Given the description of an element on the screen output the (x, y) to click on. 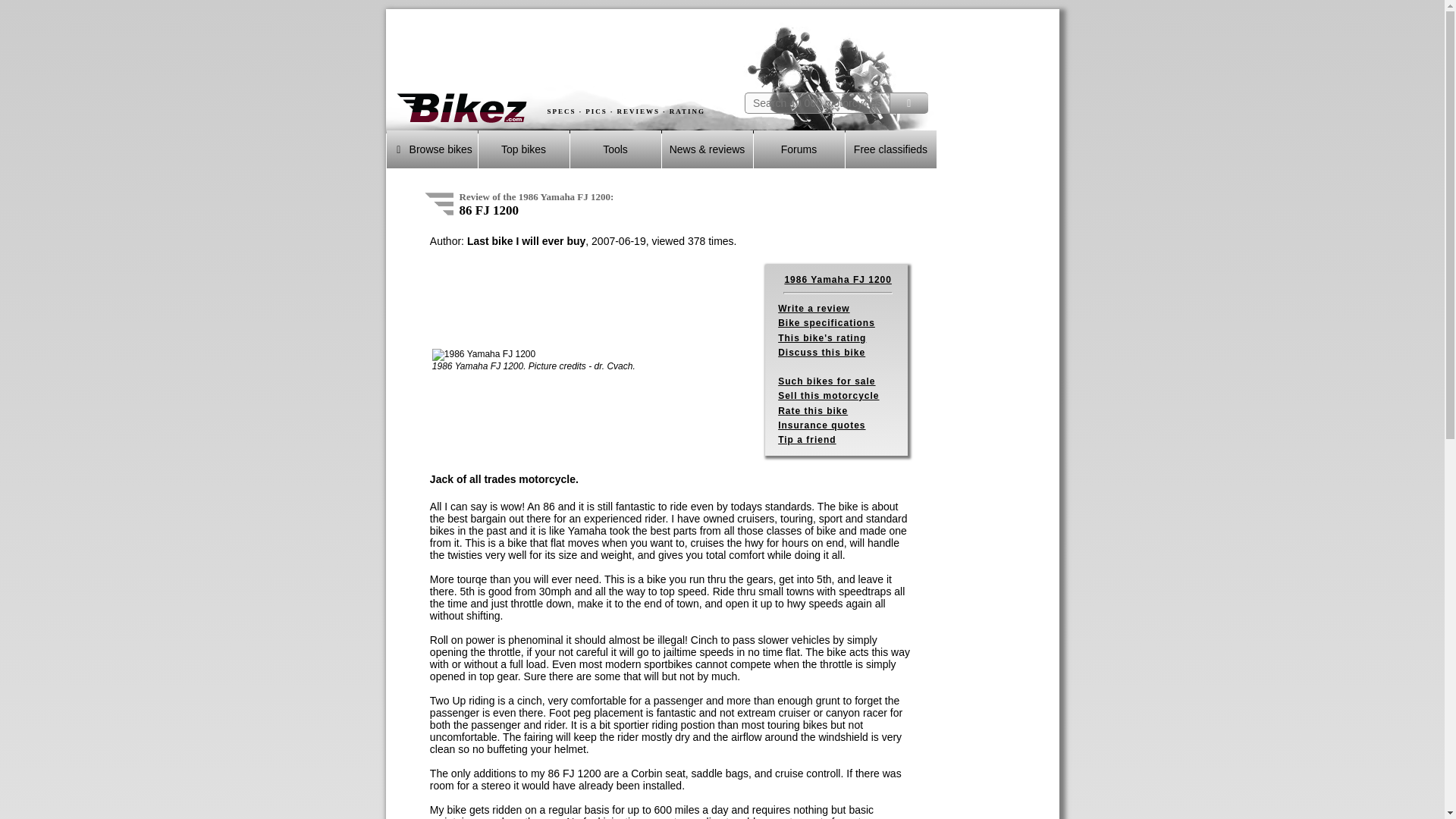
Tools (615, 149)
1986 Yamaha FJ 1200 review (438, 202)
Browse bikes (432, 149)
Free classifieds (890, 149)
Top bikes (523, 149)
Forums (799, 149)
Write a review (812, 308)
1986 Yamaha FJ 1200 (837, 279)
Bike specifications (826, 322)
Find motorcycle (908, 102)
1986 Yamaha FJ 1200 (483, 354)
